Given the description of an element on the screen output the (x, y) to click on. 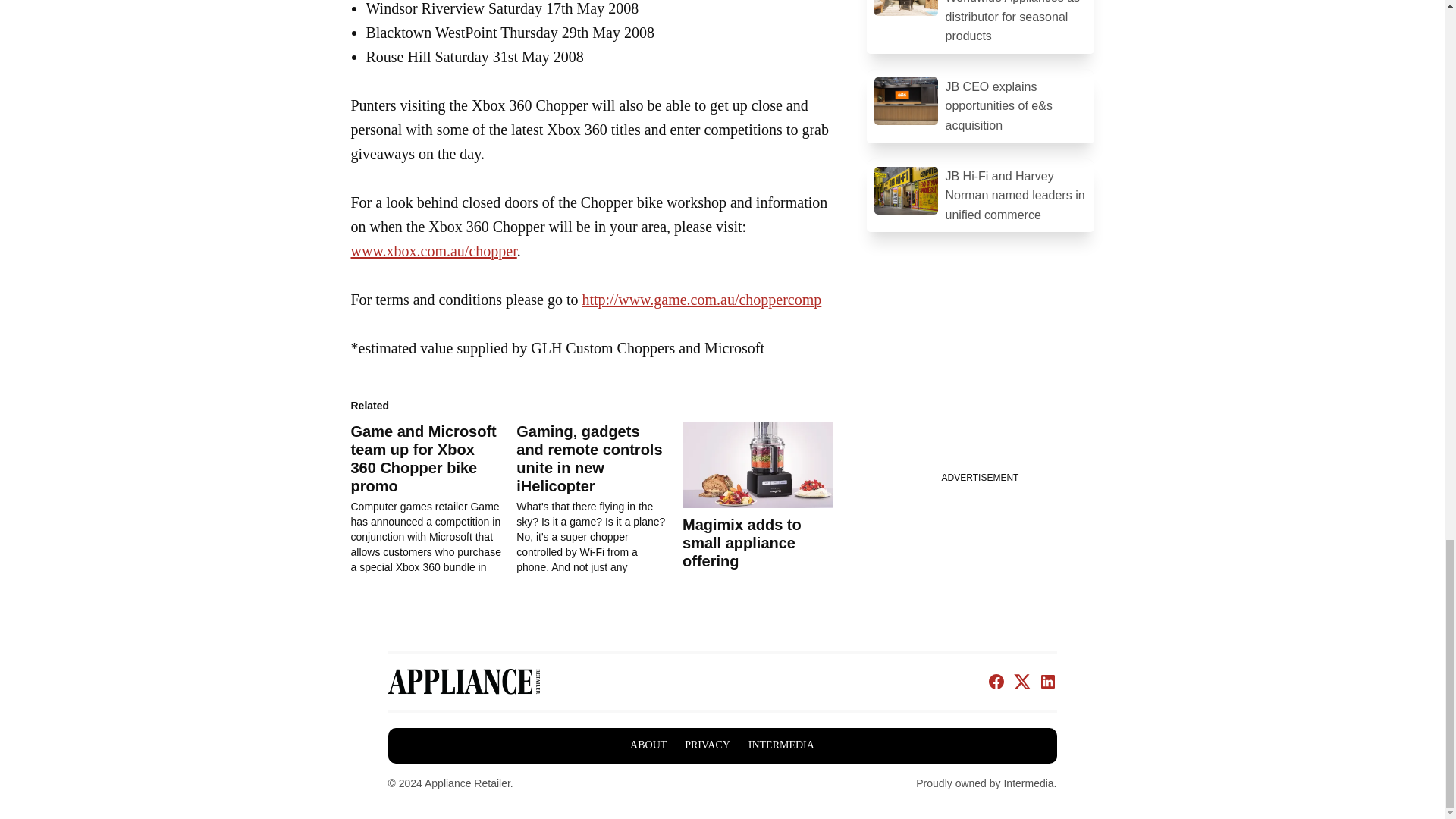
Magimix adds to small appliance offering (757, 465)
Game and Microsoft team up for Xbox 360 Chopper bike promo (423, 458)
Gaming, gadgets and remote controls unite in new iHelicopter (599, 498)
3rd party ad content (979, 371)
JB Hi-Fi and Harvey Norman named leaders in unified commerce (979, 195)
Game and Microsoft team up for Xbox 360 Chopper bike promo (433, 498)
Gaming, gadgets and remote controls unite in new iHelicopter (589, 458)
Magimix adds to small appliance offering (742, 542)
